Given the description of an element on the screen output the (x, y) to click on. 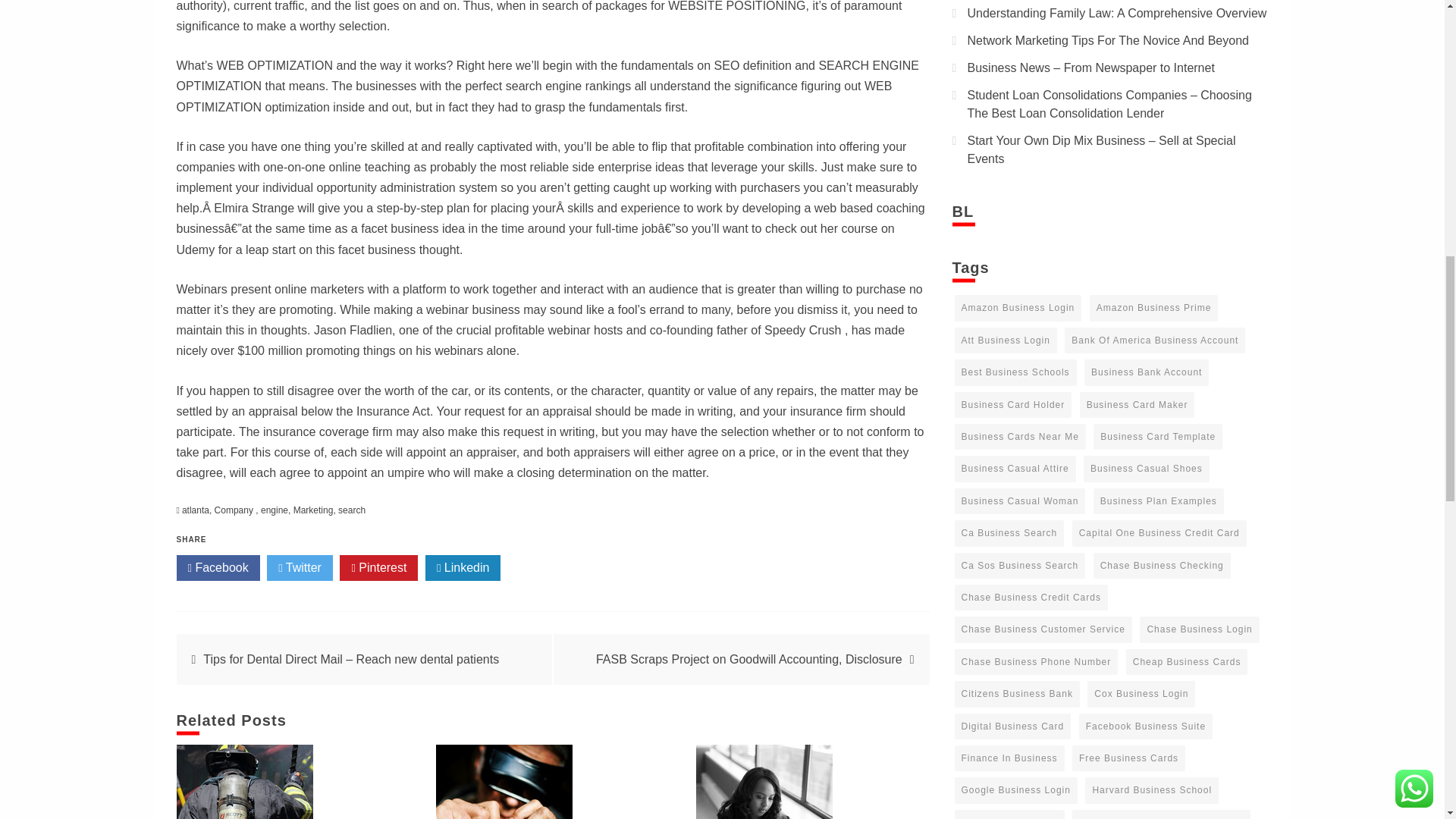
FASB Scraps Project on Goodwill Accounting, Disclosure (748, 658)
Pinterest (378, 567)
search (351, 510)
Linkedin (462, 567)
atlanta (195, 510)
engine (274, 510)
Facebook (217, 567)
Marketing (313, 510)
Company  (235, 510)
Twitter (299, 567)
